Given the description of an element on the screen output the (x, y) to click on. 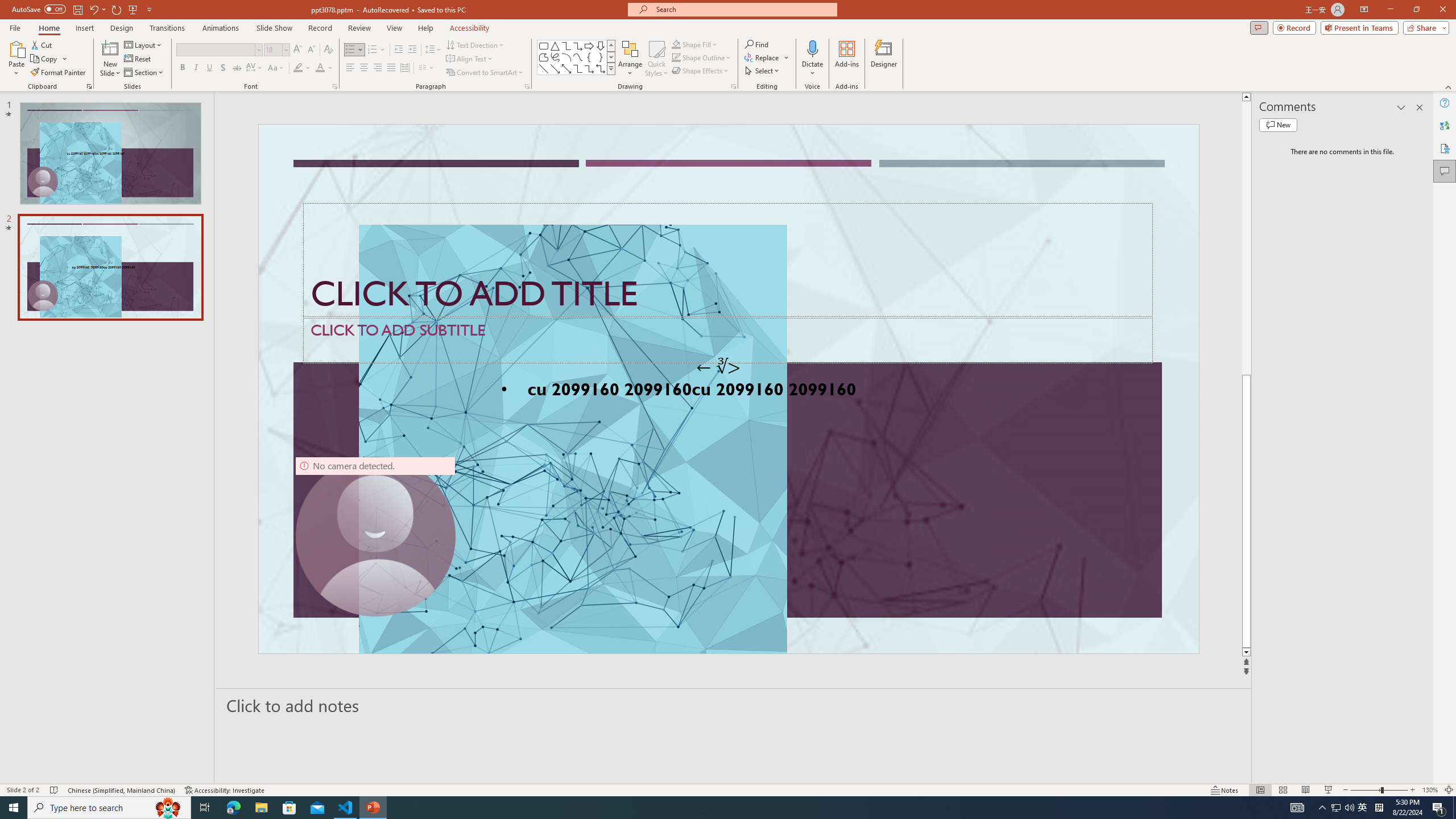
Open (285, 49)
Shape Fill Dark Green, Accent 2 (675, 44)
Numbering (372, 49)
Close pane (1419, 107)
Subtitle TextBox (727, 339)
Bullets (349, 49)
Office Clipboard... (88, 85)
Font (219, 49)
Page up (1245, 238)
Minimize (1390, 9)
Numbering (376, 49)
Save (77, 9)
Align Right (377, 67)
Restore Down (1416, 9)
